Given the description of an element on the screen output the (x, y) to click on. 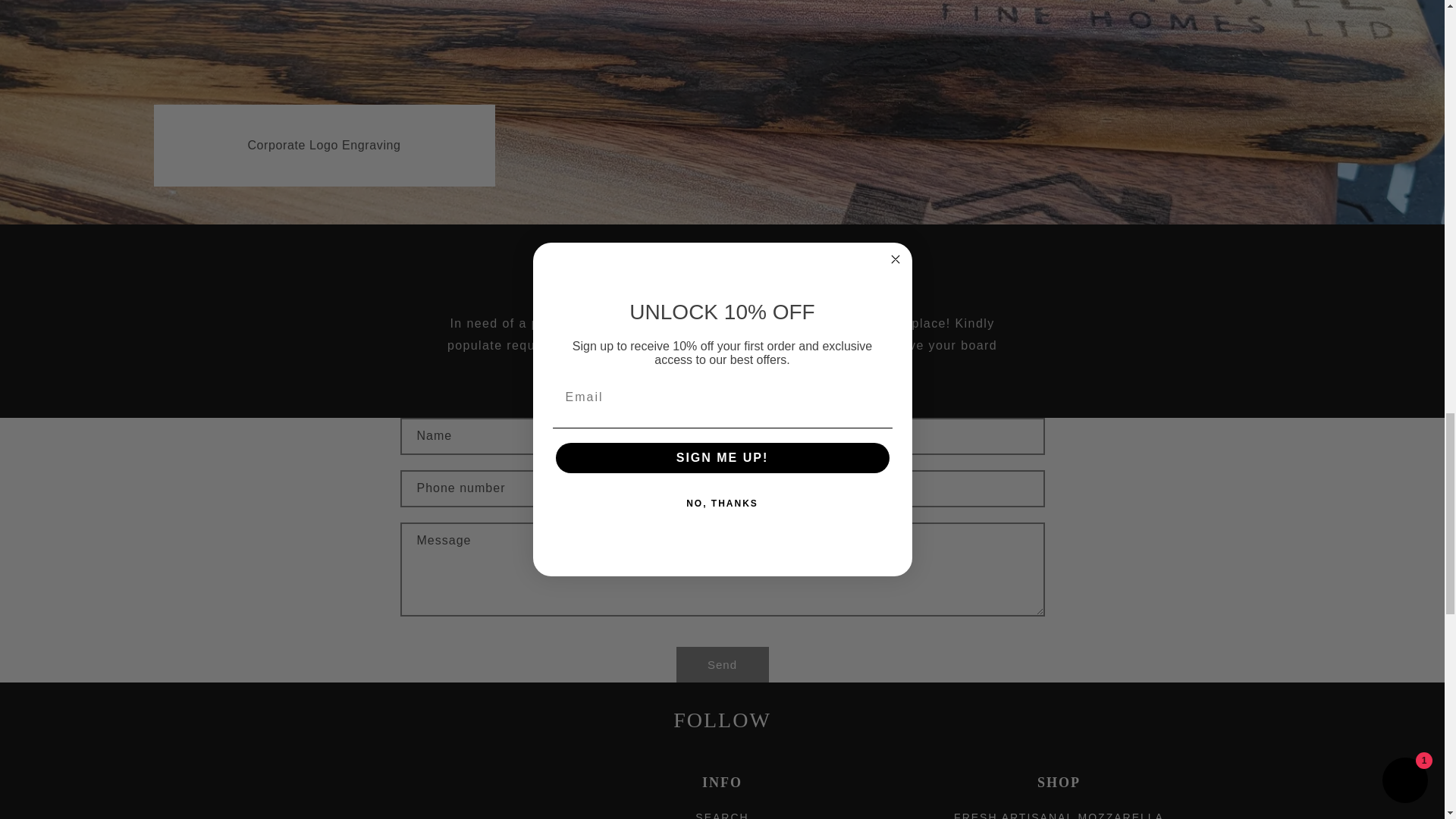
SEARCH (721, 815)
Send (722, 664)
